Given the description of an element on the screen output the (x, y) to click on. 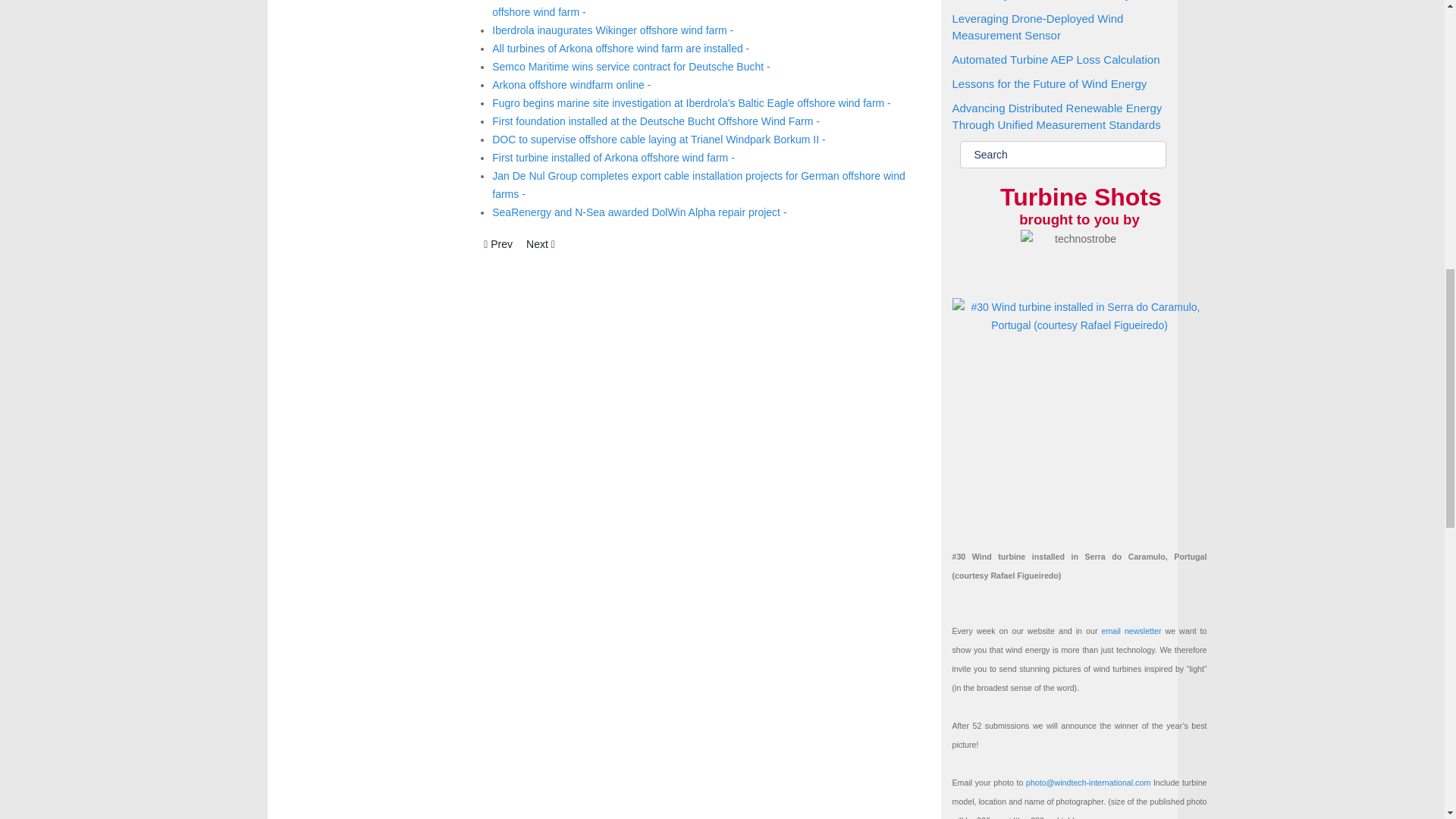
Search (1062, 154)
